Given the description of an element on the screen output the (x, y) to click on. 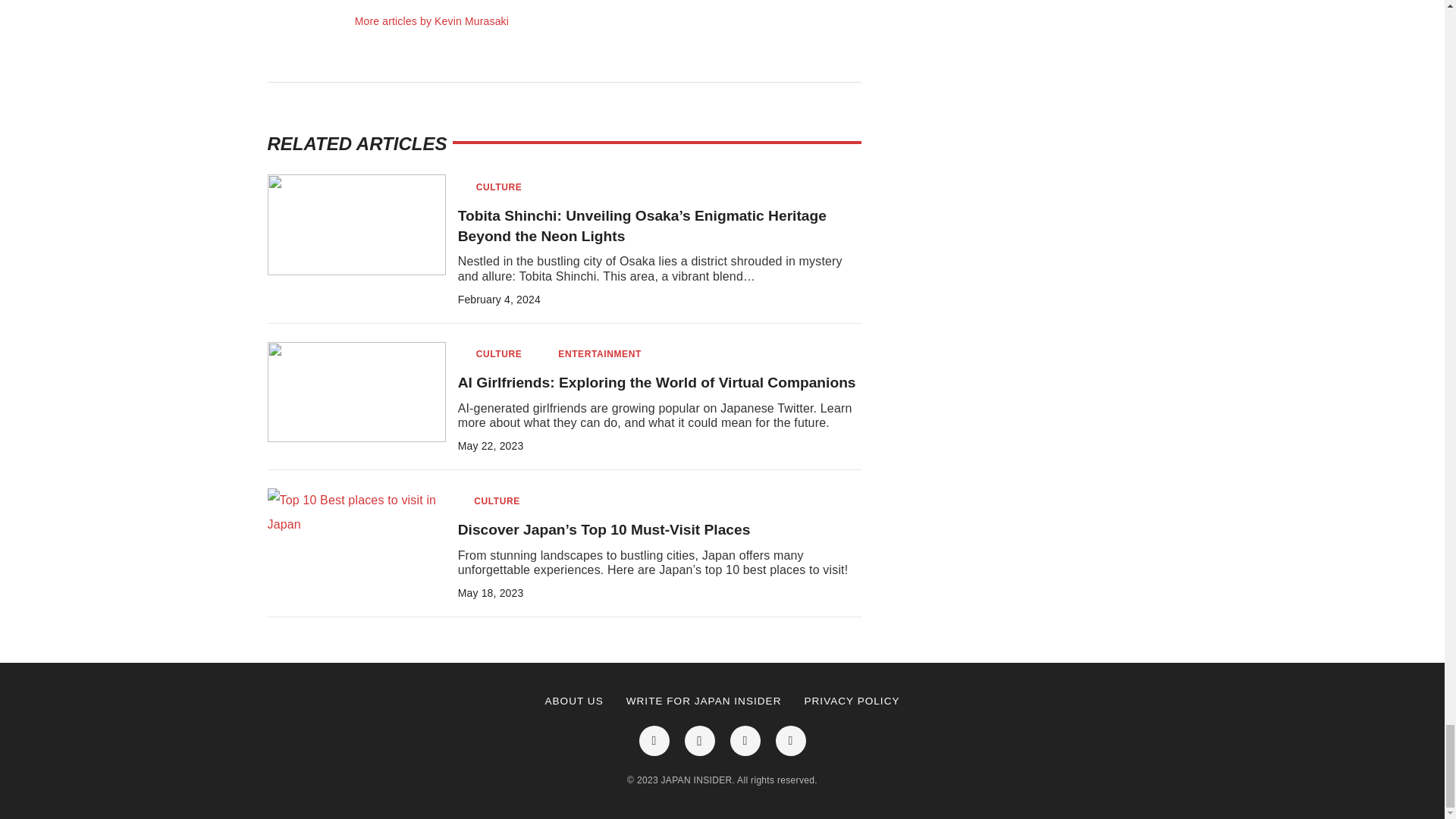
Instagram (699, 740)
ENTERTAINMENT (599, 354)
Twitter (789, 740)
AI Girlfriends: Exploring the World of Virtual Companions (657, 382)
YouTube (744, 740)
CULTURE (499, 186)
More articles by Kevin Murasaki (431, 21)
CULTURE (499, 354)
Facebook (653, 740)
